Given the description of an element on the screen output the (x, y) to click on. 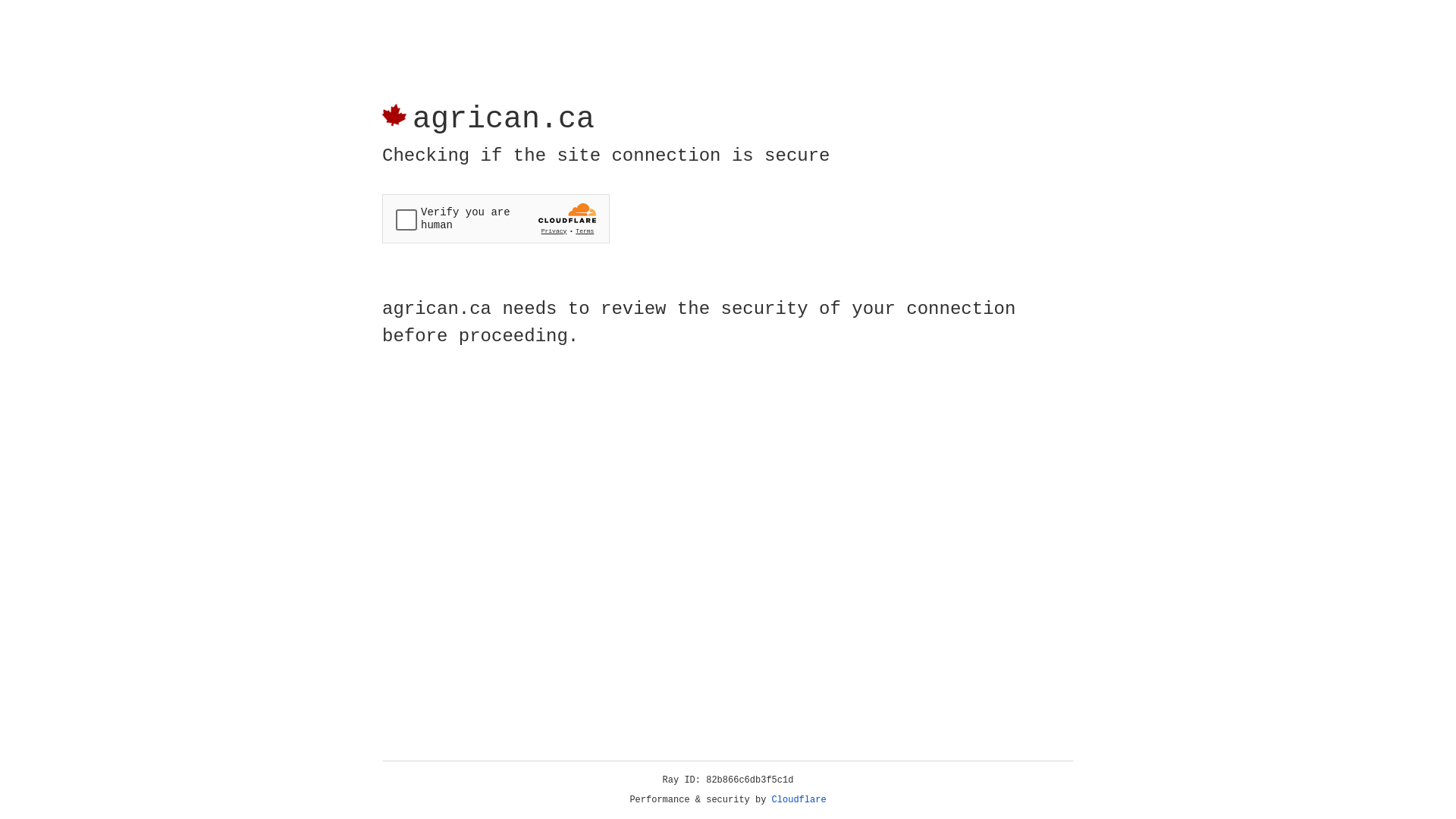
Cloudflare Element type: text (798, 799)
Widget containing a Cloudflare security challenge Element type: hover (495, 218)
